Given the description of an element on the screen output the (x, y) to click on. 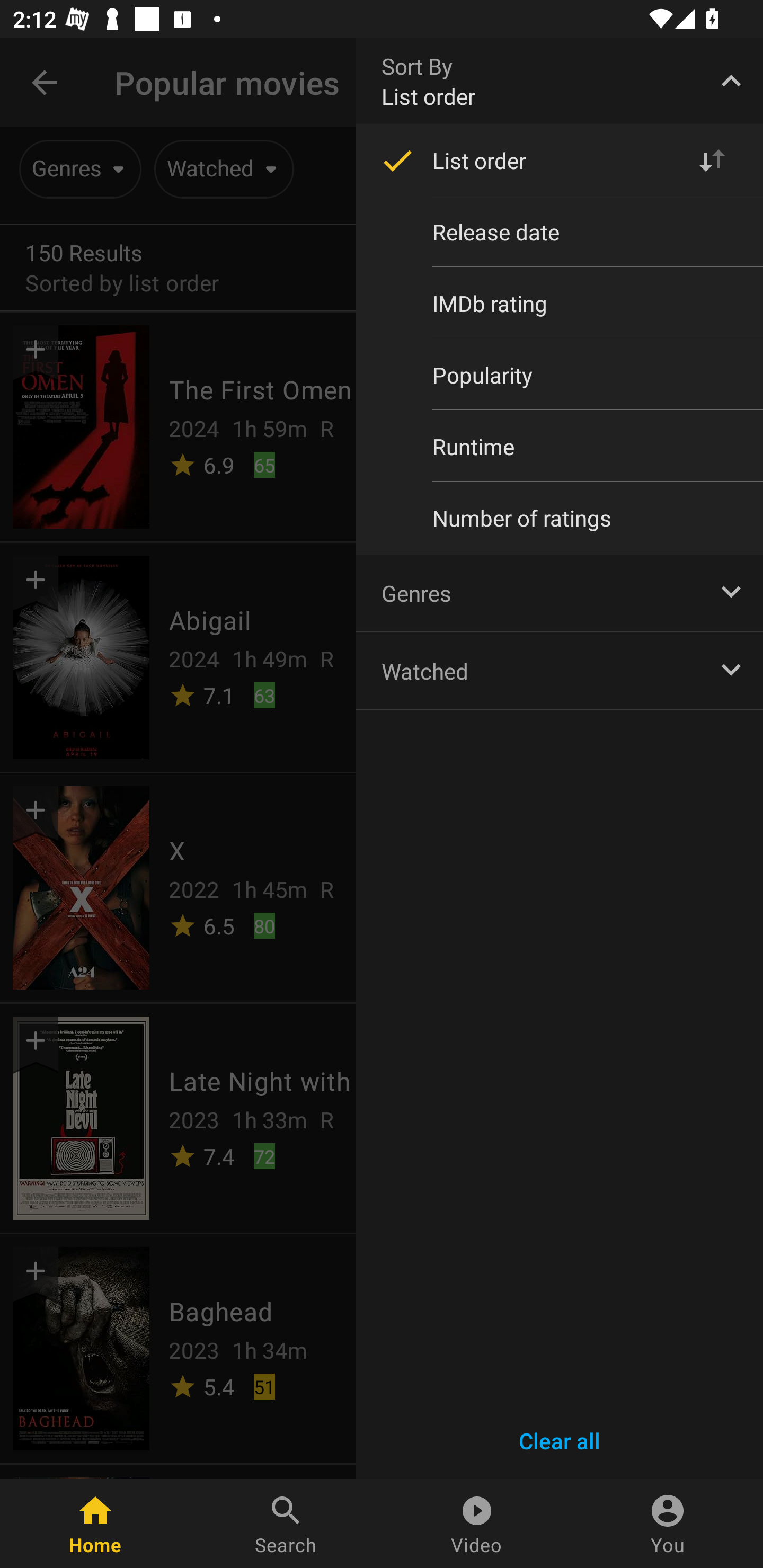
Sort By List order (559, 80)
List order (559, 160)
Release date (559, 231)
IMDb rating (559, 303)
Popularity (559, 374)
Runtime (559, 445)
Number of ratings (559, 517)
Genres (559, 592)
Watched (559, 669)
Clear all (559, 1440)
Search (285, 1523)
Video (476, 1523)
You (667, 1523)
